Given the description of an element on the screen output the (x, y) to click on. 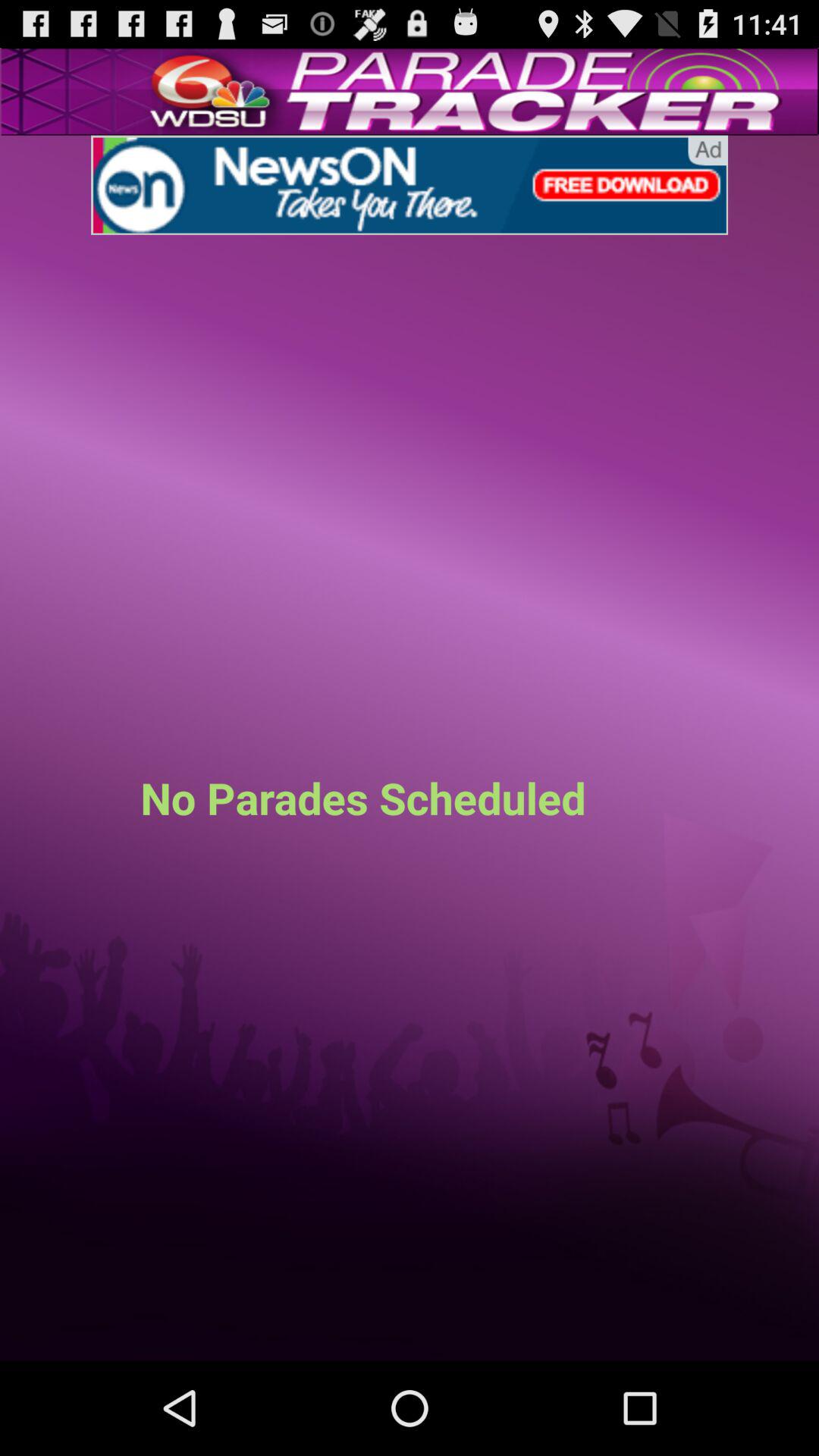
title of the name (409, 184)
